Given the description of an element on the screen output the (x, y) to click on. 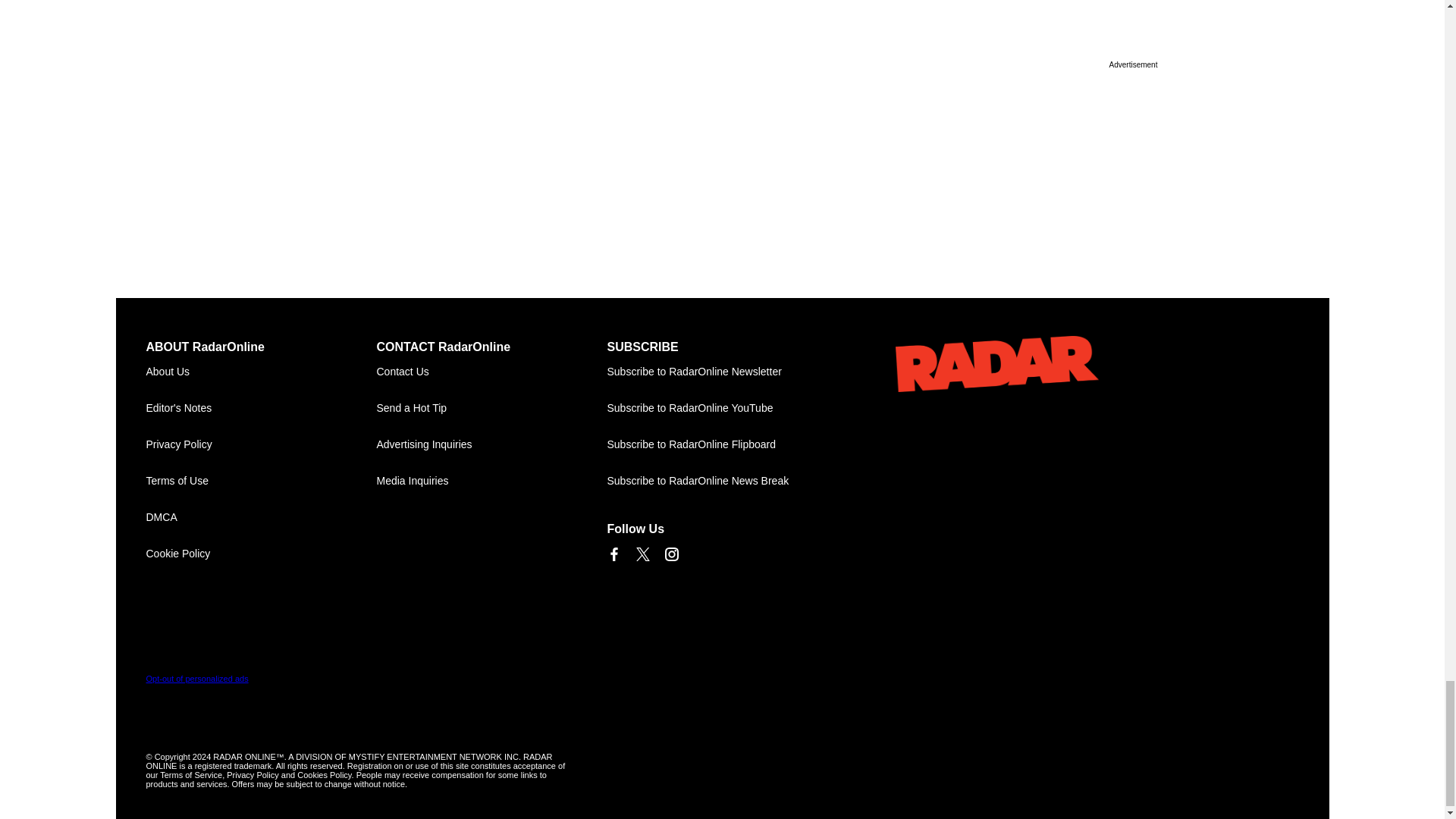
Terms of Use (260, 481)
Subscribe (722, 371)
Subscribe to RadarOnline on YouTube (722, 408)
Cookie Policy (260, 554)
Link to Instagram (670, 554)
Subscribe to RadarOnline Flipboard (722, 444)
Terms of Use (260, 481)
Media Inquiries (491, 481)
Link to Facebook (613, 554)
Contact Us (491, 371)
Privacy Policy (260, 444)
Privacy Policy (260, 444)
About Us (260, 371)
Send a Hot Tip (491, 408)
DMCA (260, 517)
